Given the description of an element on the screen output the (x, y) to click on. 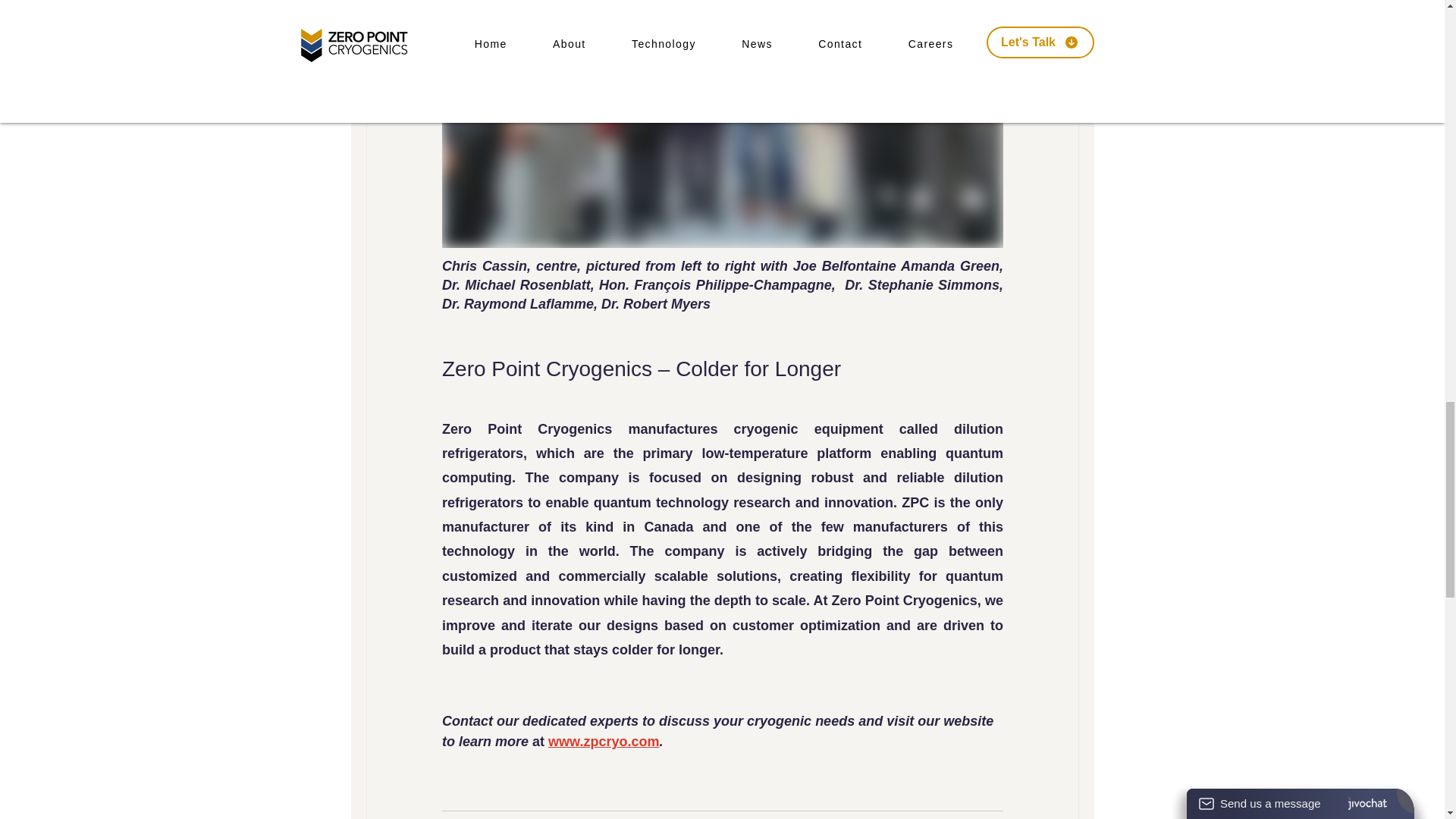
www.zpcryo.com (603, 741)
